Given the description of an element on the screen output the (x, y) to click on. 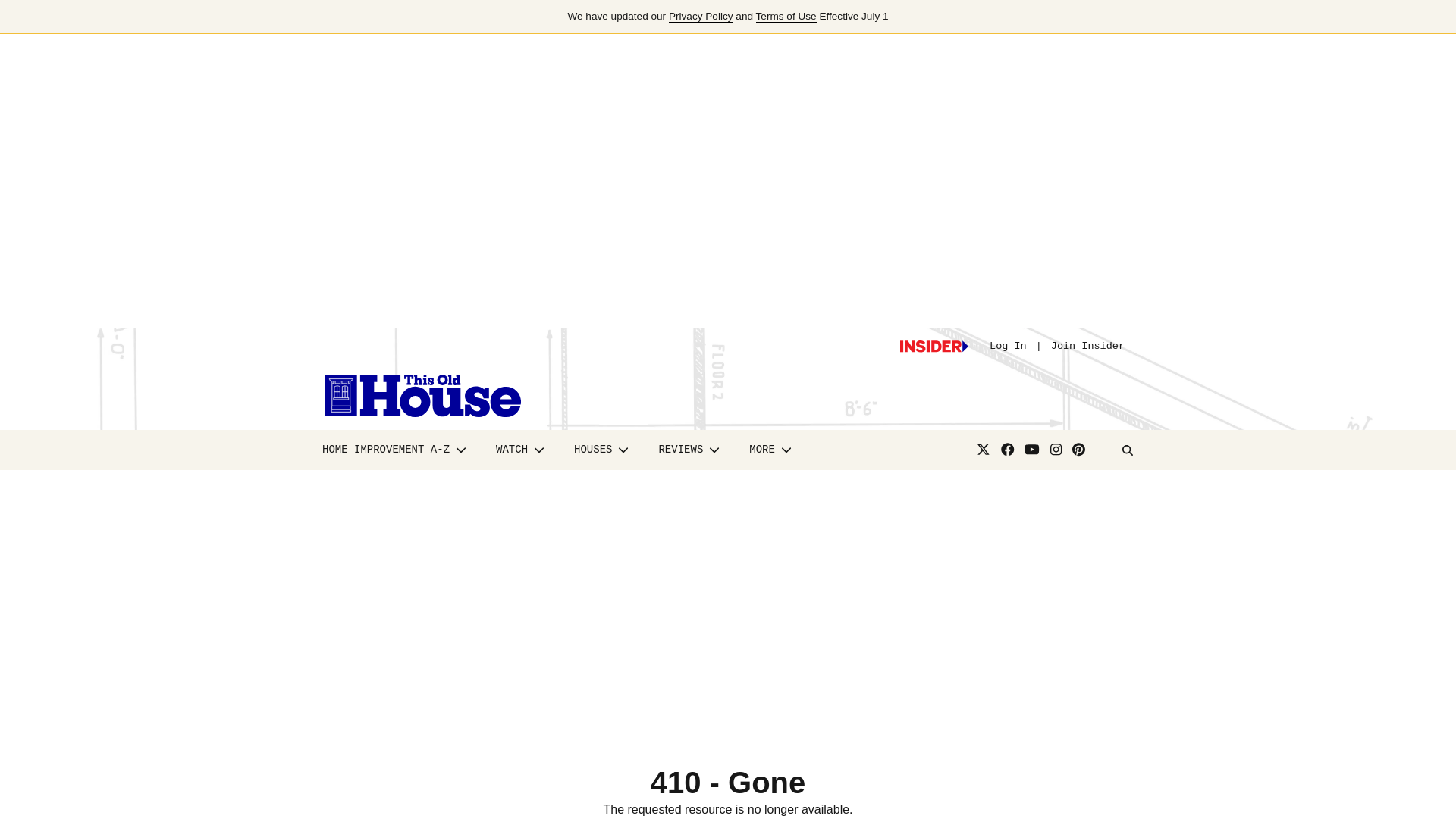
Log In (1008, 346)
Log in or sign up (933, 346)
Join Insider (1087, 346)
Privacy Policy (700, 16)
Terms of Use (785, 16)
